Given the description of an element on the screen output the (x, y) to click on. 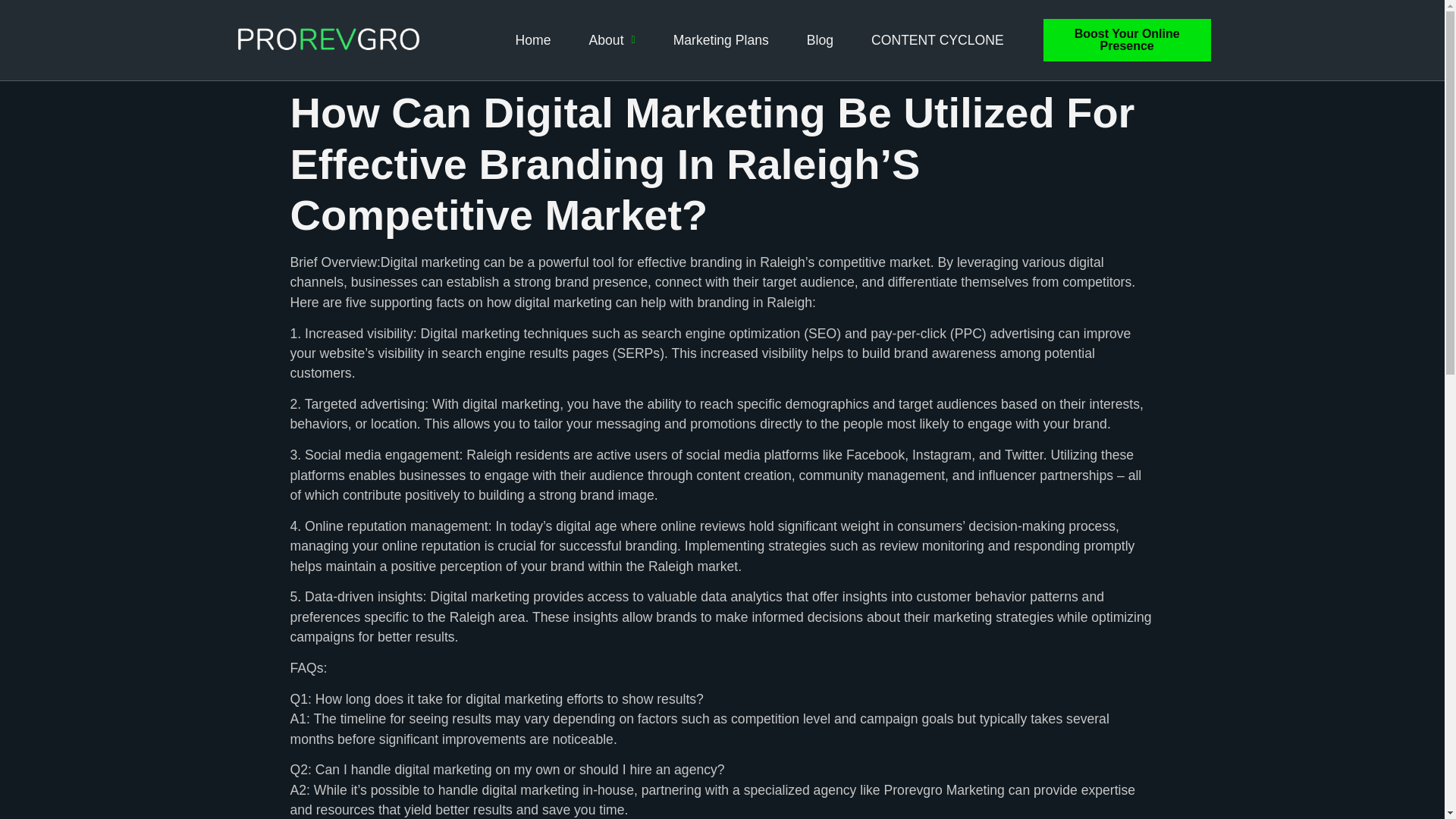
Marketing Plans (720, 39)
About (606, 39)
Blog (819, 39)
CONTENT CYCLONE (937, 39)
Home (533, 39)
Boost Your Online Presence (1127, 39)
